Given the description of an element on the screen output the (x, y) to click on. 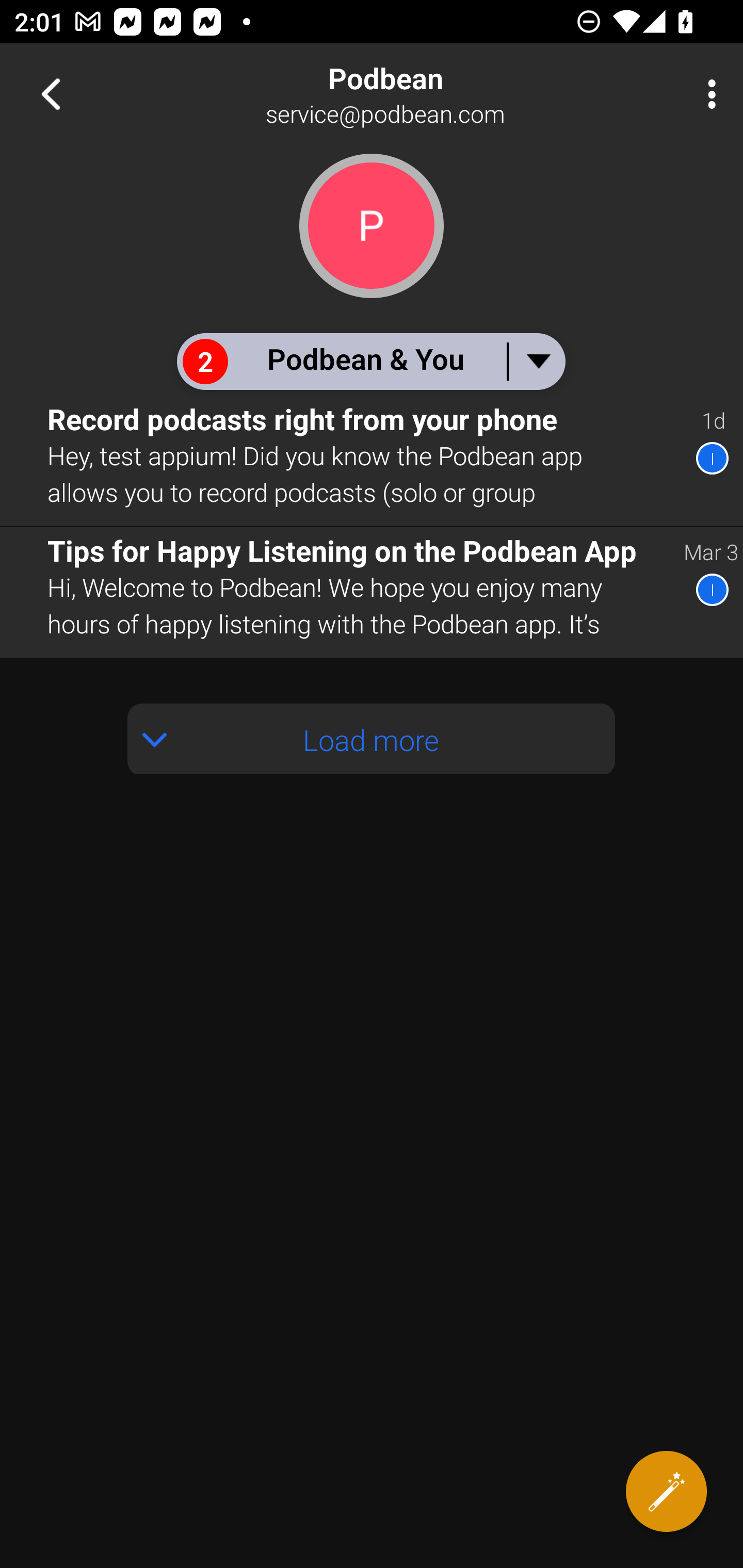
Navigate up (50, 93)
Podbean service@podbean.com (436, 93)
More Options (706, 93)
2 Podbean & You (370, 361)
Load more (371, 739)
